Given the description of an element on the screen output the (x, y) to click on. 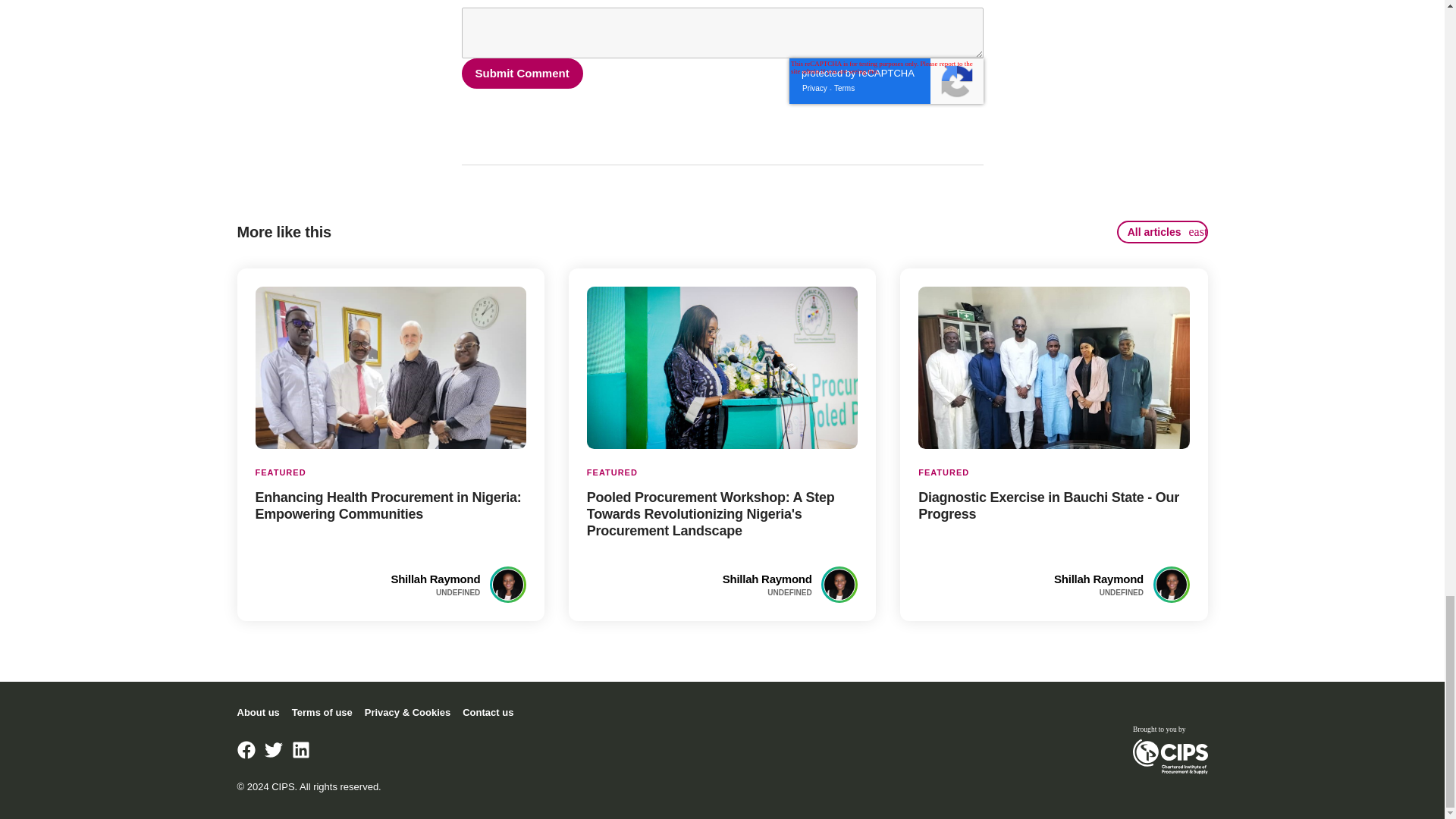
LinkedIn (299, 750)
Facebook (244, 750)
Terms of use (322, 712)
Submit Comment (521, 73)
Submit Comment (521, 73)
reCAPTCHA (885, 81)
Facebook (244, 750)
Contact us (488, 712)
LinkedIn (299, 750)
About us (1162, 231)
Twitter (257, 712)
